Given the description of an element on the screen output the (x, y) to click on. 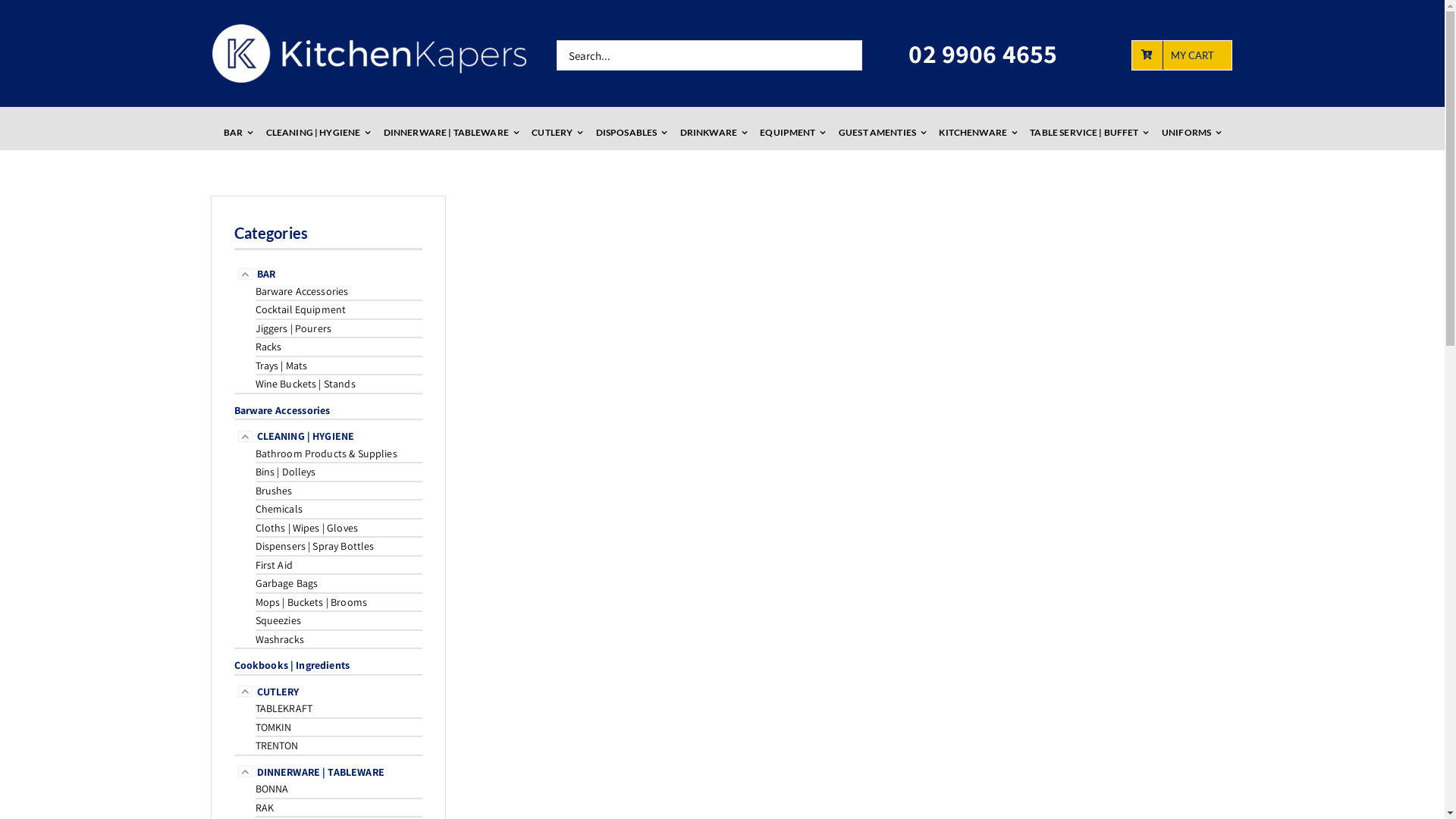
Mops | Buckets | Brooms Element type: text (310, 601)
DINNERWARE | TABLEWARE Element type: text (450, 134)
Washracks Element type: text (278, 639)
Bathroom Products & Supplies Element type: text (325, 453)
EQUIPMENT Element type: text (792, 134)
DRINKWARE Element type: text (713, 134)
RAK Element type: text (263, 807)
Jiggers | Pourers Element type: text (292, 328)
CUTLERY Element type: text (277, 691)
Cocktail Equipment Element type: text (299, 309)
Racks Element type: text (267, 346)
UNIFORMS Element type: text (1190, 134)
TABLE SERVICE | BUFFET Element type: text (1088, 134)
Barware Accessories Element type: text (281, 410)
Squeezies Element type: text (277, 620)
Brushes Element type: text (272, 490)
DINNERWARE | TABLEWARE Element type: text (319, 771)
BAR Element type: text (237, 134)
Trays | Mats Element type: text (280, 365)
Dispensers | Spray Bottles Element type: text (313, 545)
Wine Buckets | Stands Element type: text (304, 383)
Garbage Bags Element type: text (285, 582)
DISPOSABLES Element type: text (631, 134)
TRENTON Element type: text (276, 745)
GUEST AMENTIES Element type: text (881, 134)
TABLEKRAFT Element type: text (283, 708)
Bins | Dolleys Element type: text (284, 471)
CUTLERY Element type: text (556, 134)
02 9906 4655 Element type: text (982, 53)
First Aid Element type: text (272, 564)
Barware Accessories Element type: text (301, 291)
Cloths | Wipes | Gloves Element type: text (305, 527)
MY CART Element type: text (1181, 54)
BONNA Element type: text (271, 788)
CLEANING | HYGIENE Element type: text (318, 134)
KITCHENWARE Element type: text (977, 134)
Cookbooks | Ingredients Element type: text (290, 664)
CLEANING | HYGIENE Element type: text (305, 435)
TOMKIN Element type: text (272, 727)
BAR Element type: text (265, 273)
Chemicals Element type: text (277, 508)
